Given the description of an element on the screen output the (x, y) to click on. 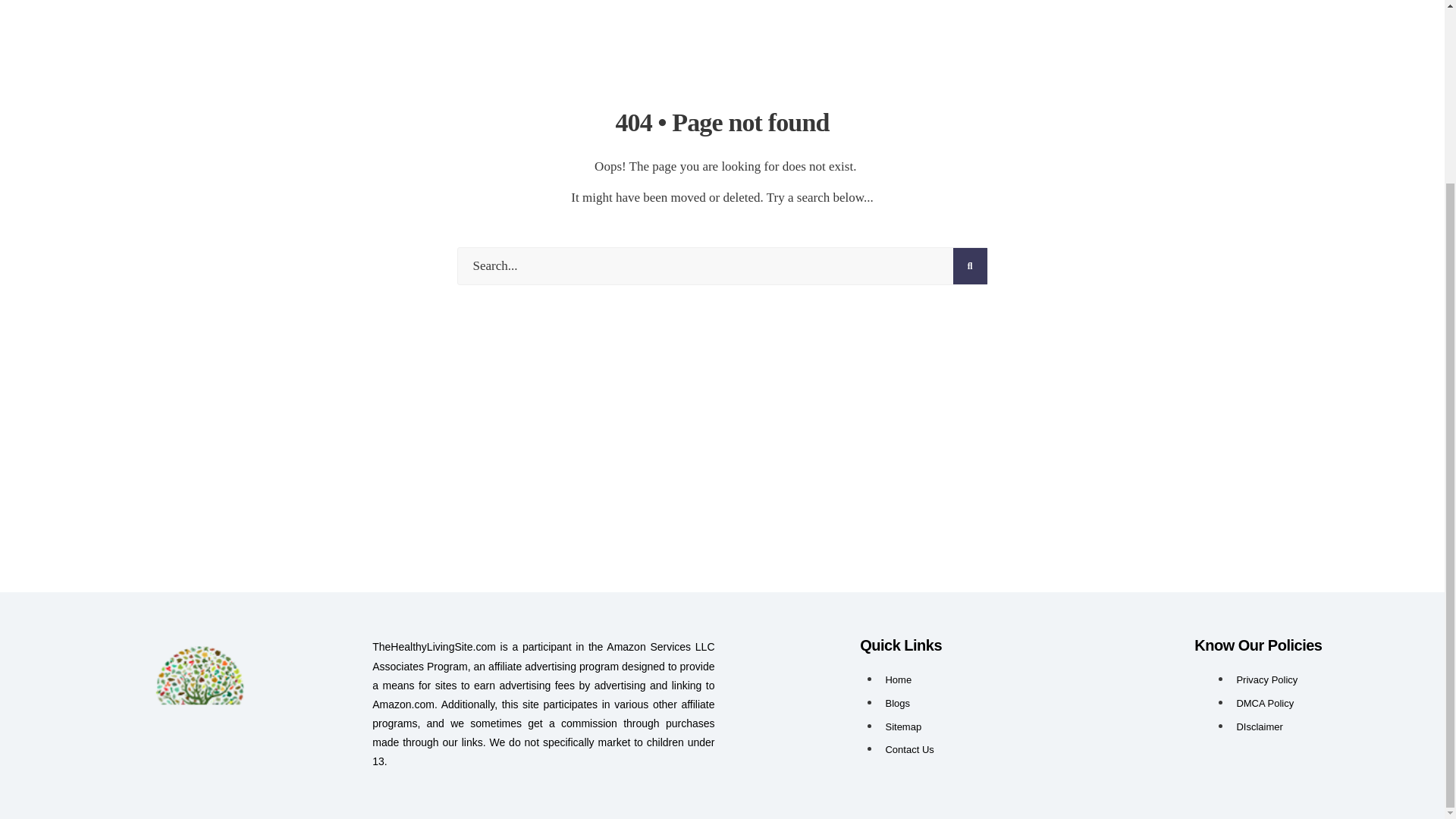
Contact Us (909, 749)
DMCA Policy (1265, 703)
Blogs (897, 703)
Home (898, 679)
Search... (722, 266)
DIsclaimer (1259, 726)
Privacy Policy (1266, 679)
Sitemap (903, 726)
